Given the description of an element on the screen output the (x, y) to click on. 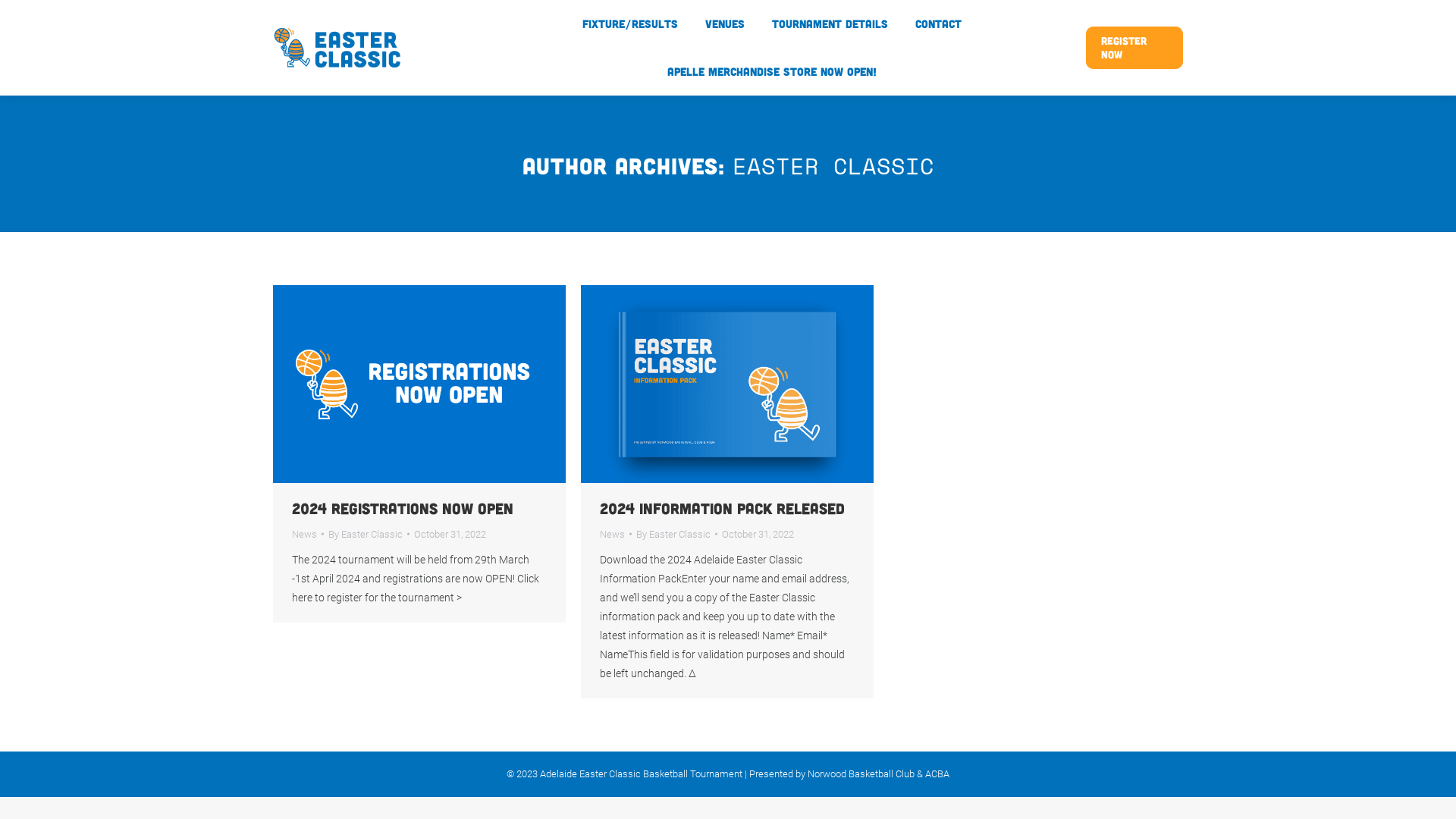
By Easter Classic Element type: text (368, 533)
By Easter Classic Element type: text (676, 533)
October 31, 2022 Element type: text (757, 533)
Easter-Classic-Tournament-News-Template-700-x-473-px Element type: hover (726, 384)
CONTACT Element type: text (938, 23)
2024 Information Pack Released Element type: text (721, 507)
News Element type: text (611, 533)
VENUES Element type: text (724, 23)
EASTER CLASSIC Element type: text (833, 165)
Reg Element type: hover (419, 384)
October 31, 2022 Element type: text (450, 533)
APELLE MERCHANDISE STORE NOW OPEN! Element type: text (771, 71)
2024 Registrations Now Open Element type: text (402, 507)
Register Now Element type: text (1134, 47)
TOURNAMENT DETAILS Element type: text (829, 23)
News Element type: text (303, 533)
FIXTURE/RESULTS Element type: text (629, 23)
